Given the description of an element on the screen output the (x, y) to click on. 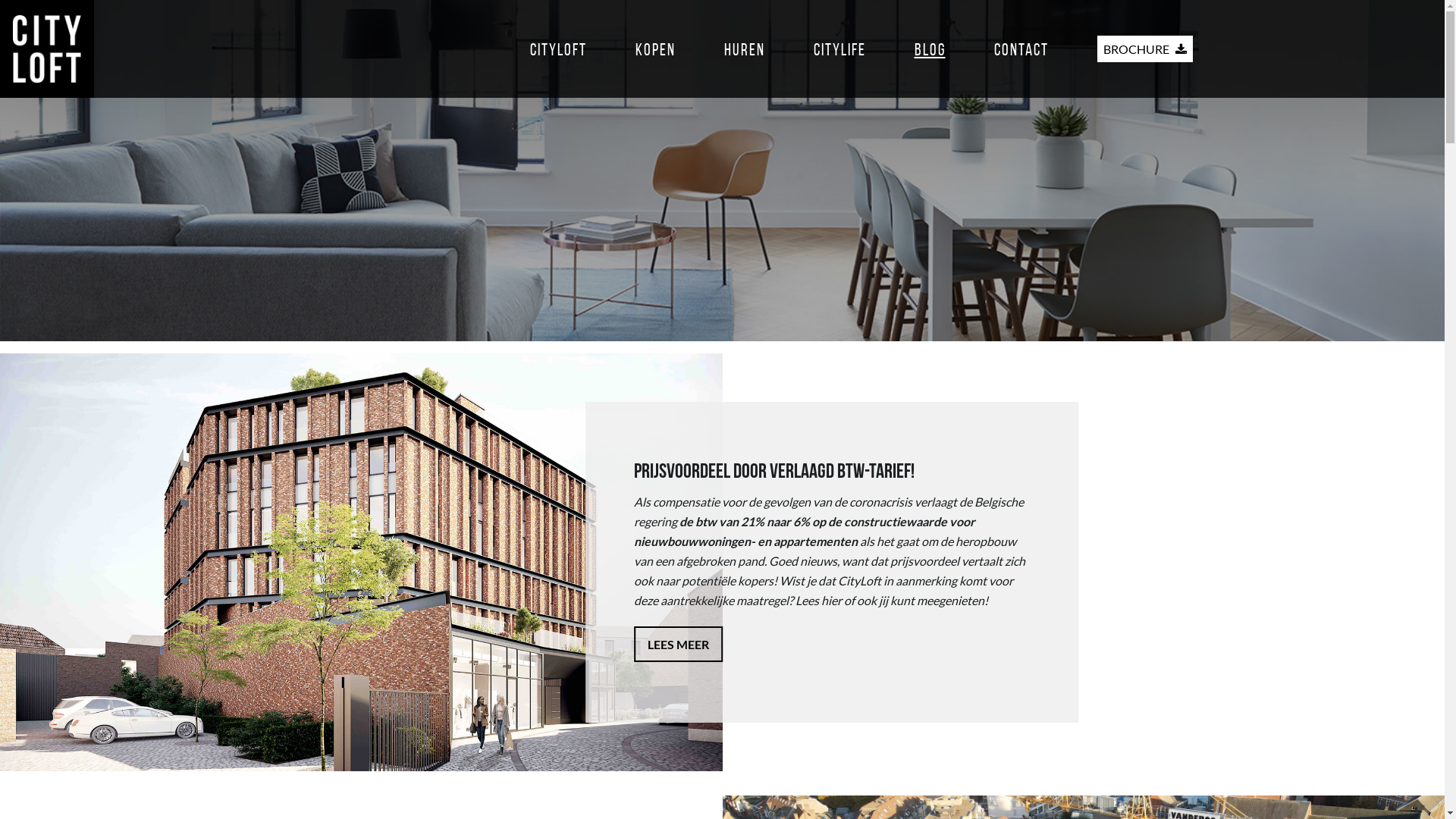
submit Element type: text (722, 605)
BLOG Element type: text (929, 48)
KOPEN Element type: text (655, 48)
BROCHURE Element type: text (1144, 48)
Prijsvoordeel door verlaagd btw-tarief! Element type: hover (831, 561)
CITYLOFT Element type: text (557, 48)
HUREN Element type: text (743, 48)
LEES MEER Element type: text (677, 644)
submit Element type: text (722, 751)
CONTACT Element type: text (1020, 48)
CITYLIFE Element type: text (838, 48)
